Given the description of an element on the screen output the (x, y) to click on. 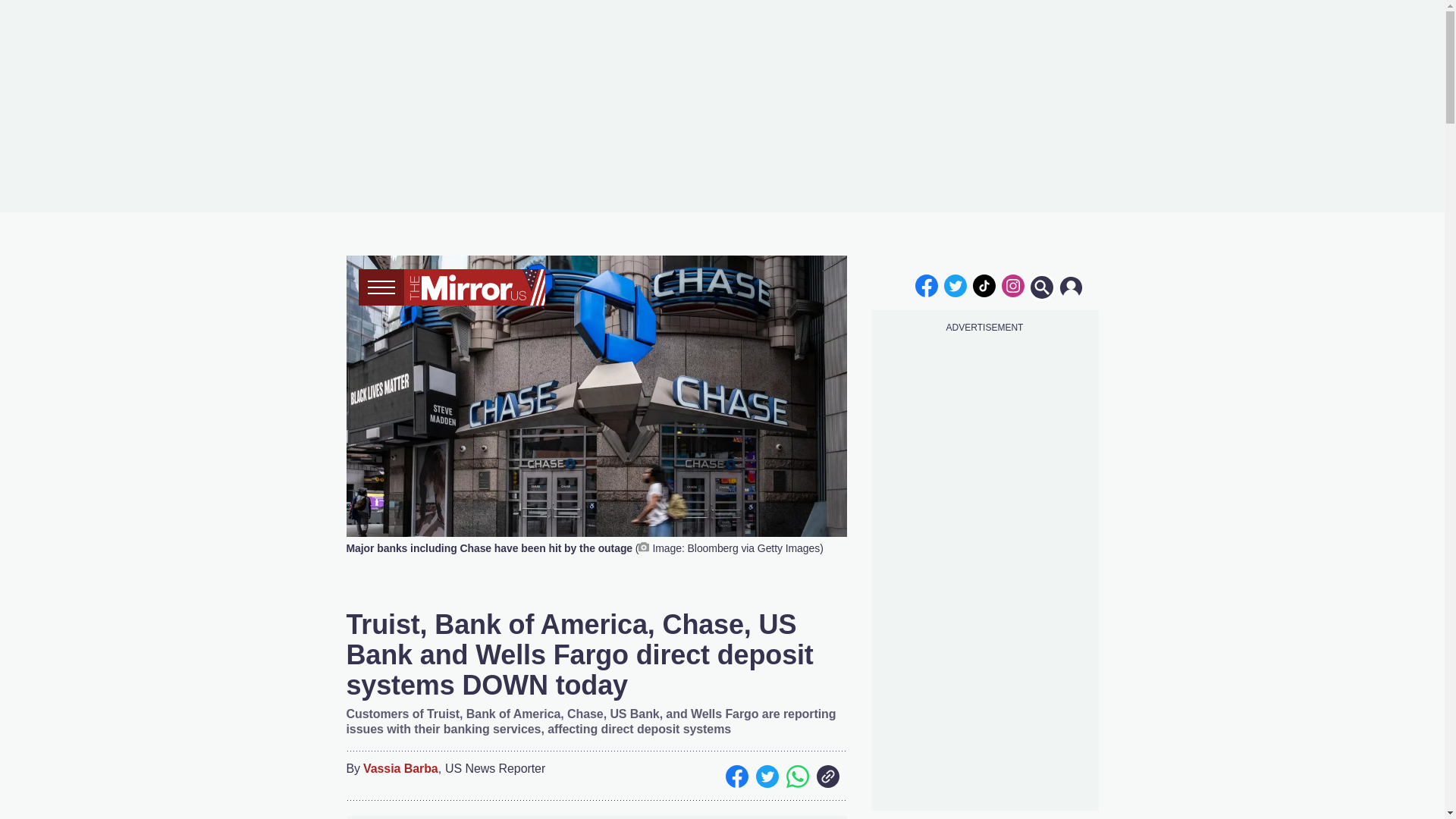
twitter (955, 285)
Facebook (736, 775)
Twitter (766, 775)
instagram (1012, 285)
Vassia Barba (400, 769)
Whatsapp (797, 775)
facebook (926, 285)
tiktok (984, 285)
